Given the description of an element on the screen output the (x, y) to click on. 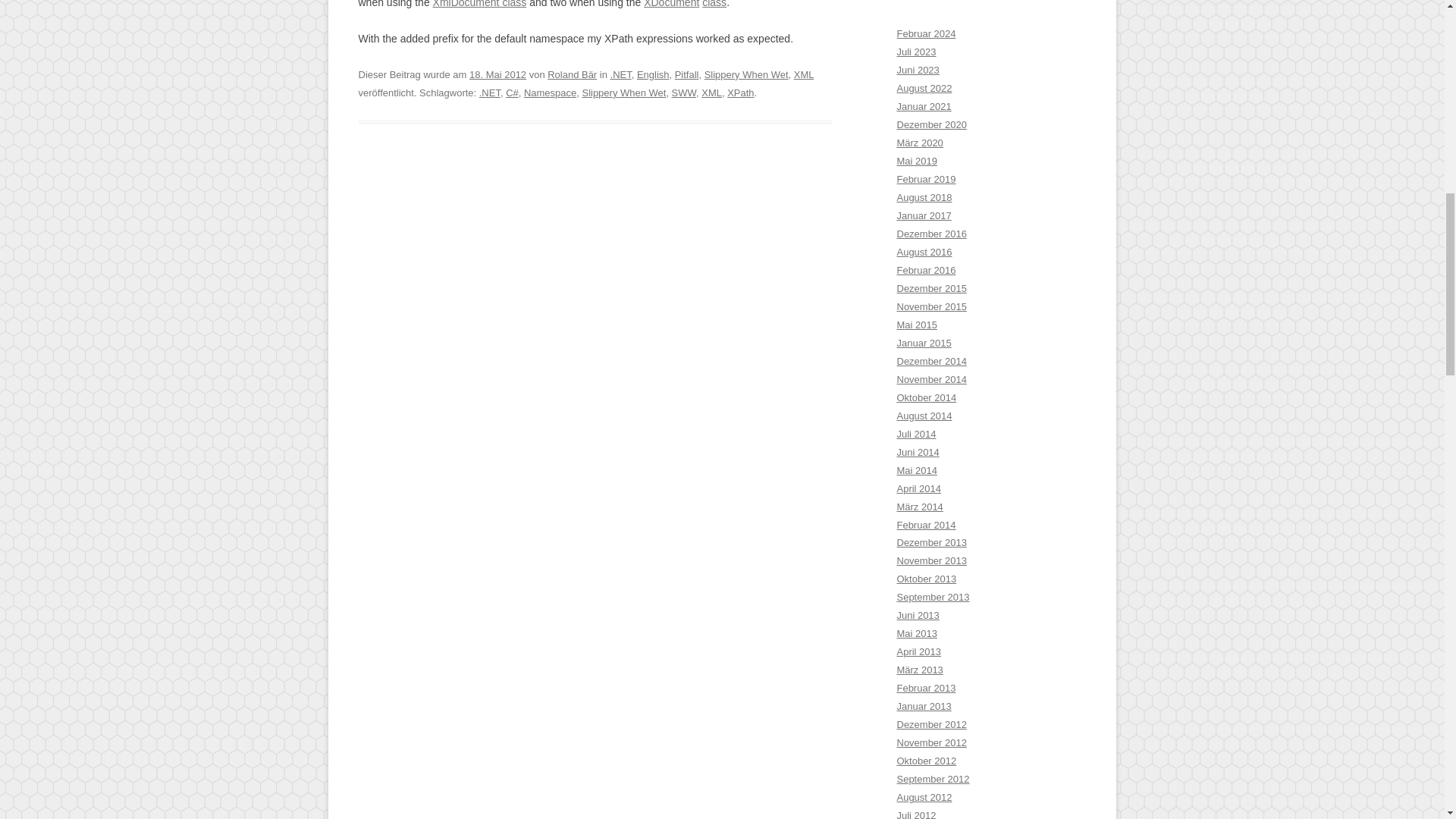
XML (803, 74)
.NET (489, 92)
English (653, 74)
XPath (740, 92)
class (713, 4)
Slippery When Wet (622, 92)
SWW (683, 92)
Namespace (550, 92)
XmlDocument class (479, 4)
XDocument (670, 4)
Pitfall (686, 74)
Slippery When Wet (746, 74)
.NET (620, 74)
11:36 (496, 74)
18. Mai 2012 (496, 74)
